Given the description of an element on the screen output the (x, y) to click on. 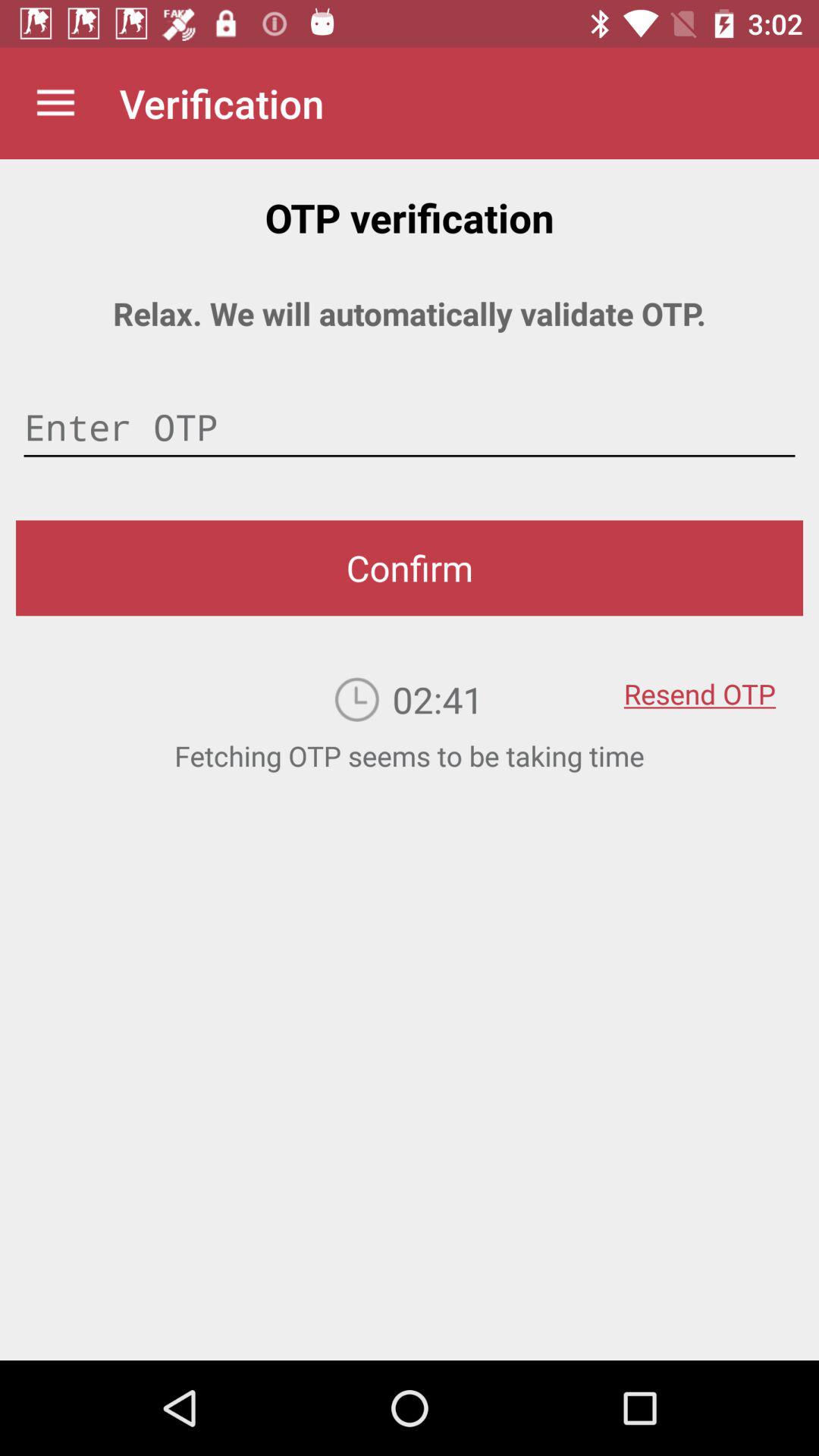
launch confirm (409, 567)
